Given the description of an element on the screen output the (x, y) to click on. 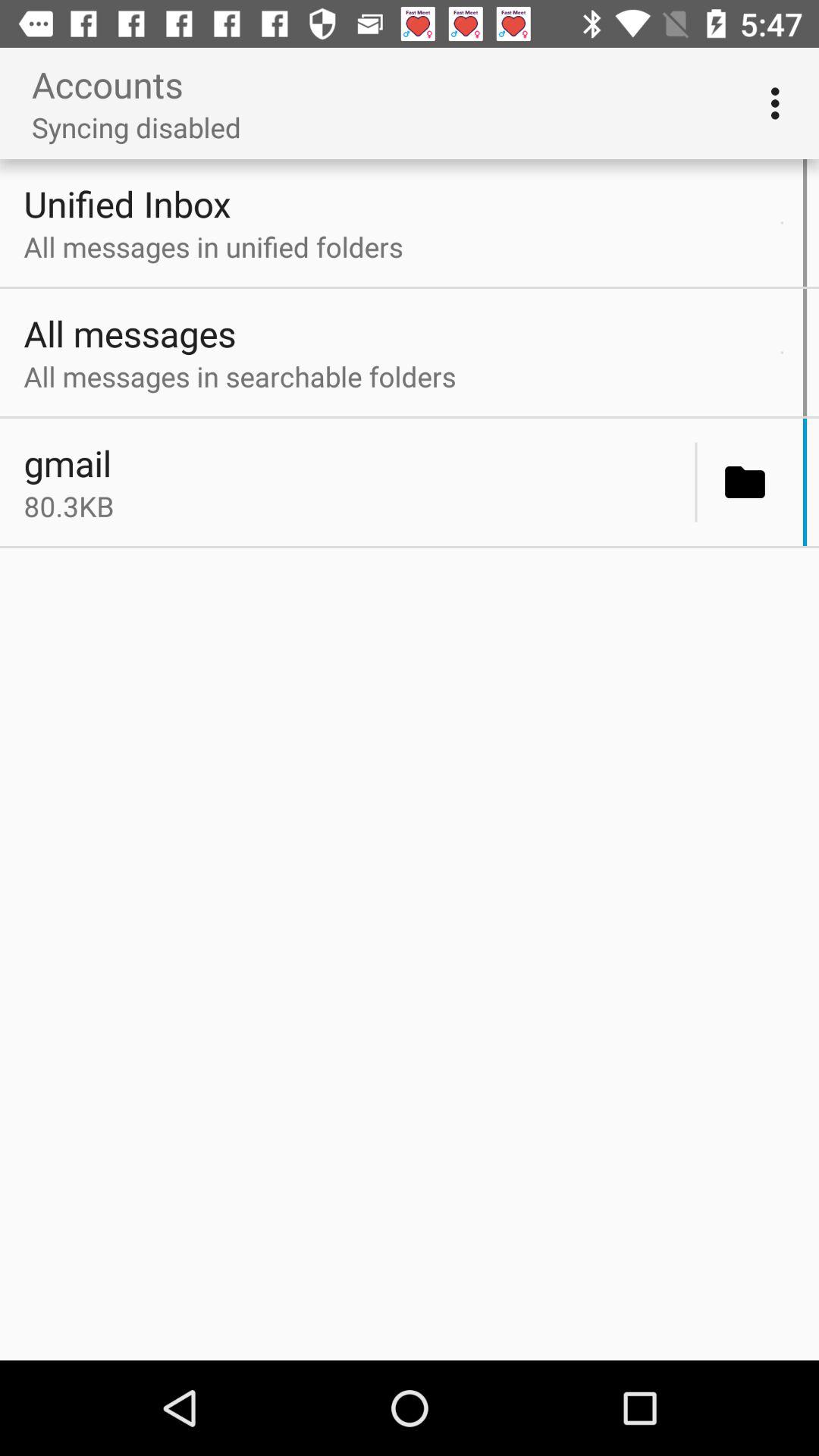
click 80.3kb (355, 505)
